Given the description of an element on the screen output the (x, y) to click on. 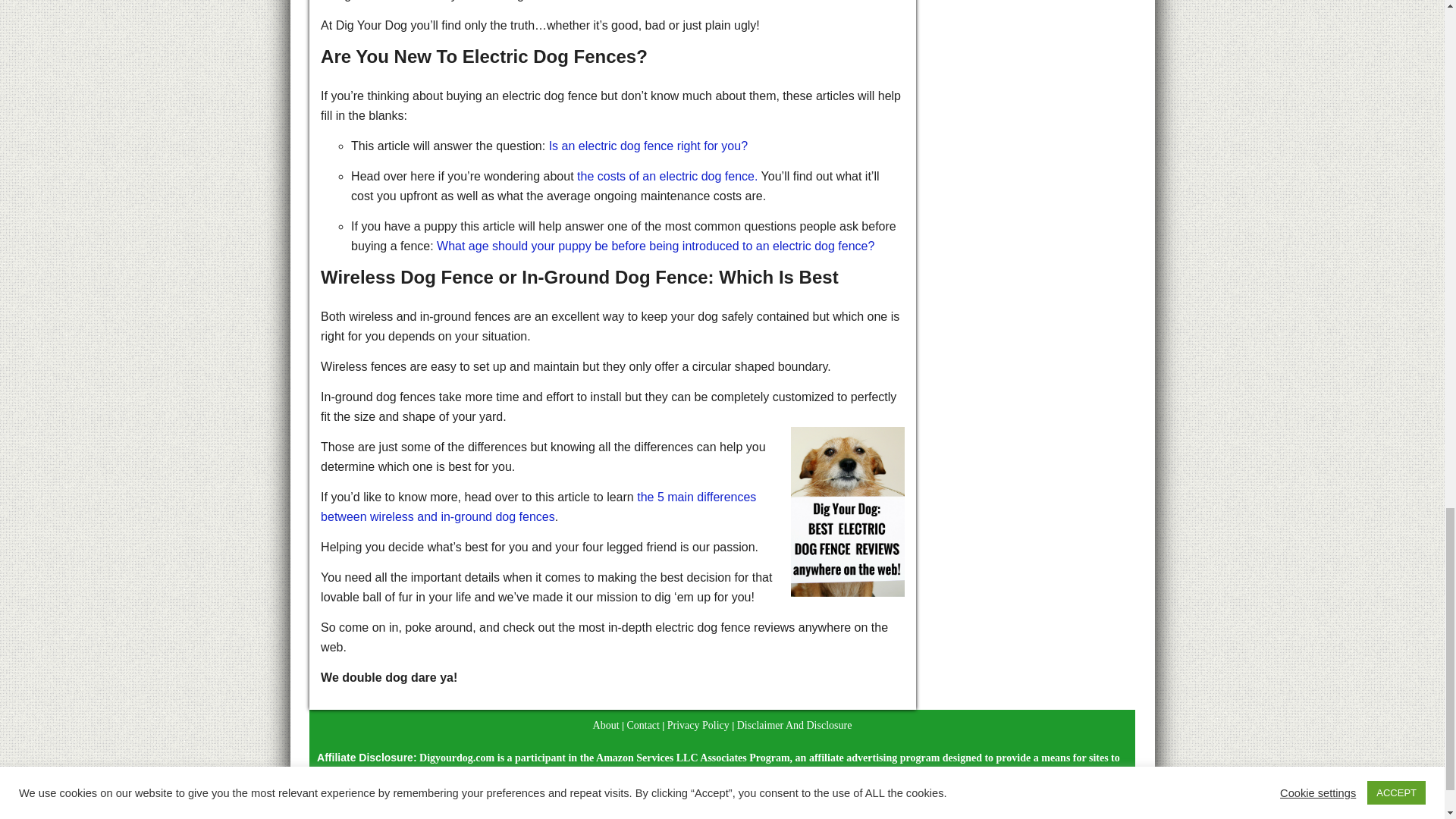
About (606, 725)
Is an electric dog fence right for you? (648, 145)
Disclaimer And Disclosure (793, 725)
Privacy Policy (697, 725)
Privacy Policy (697, 725)
Contact (642, 725)
Contact (642, 725)
Disclaimer And Disclosure (793, 725)
